Given the description of an element on the screen output the (x, y) to click on. 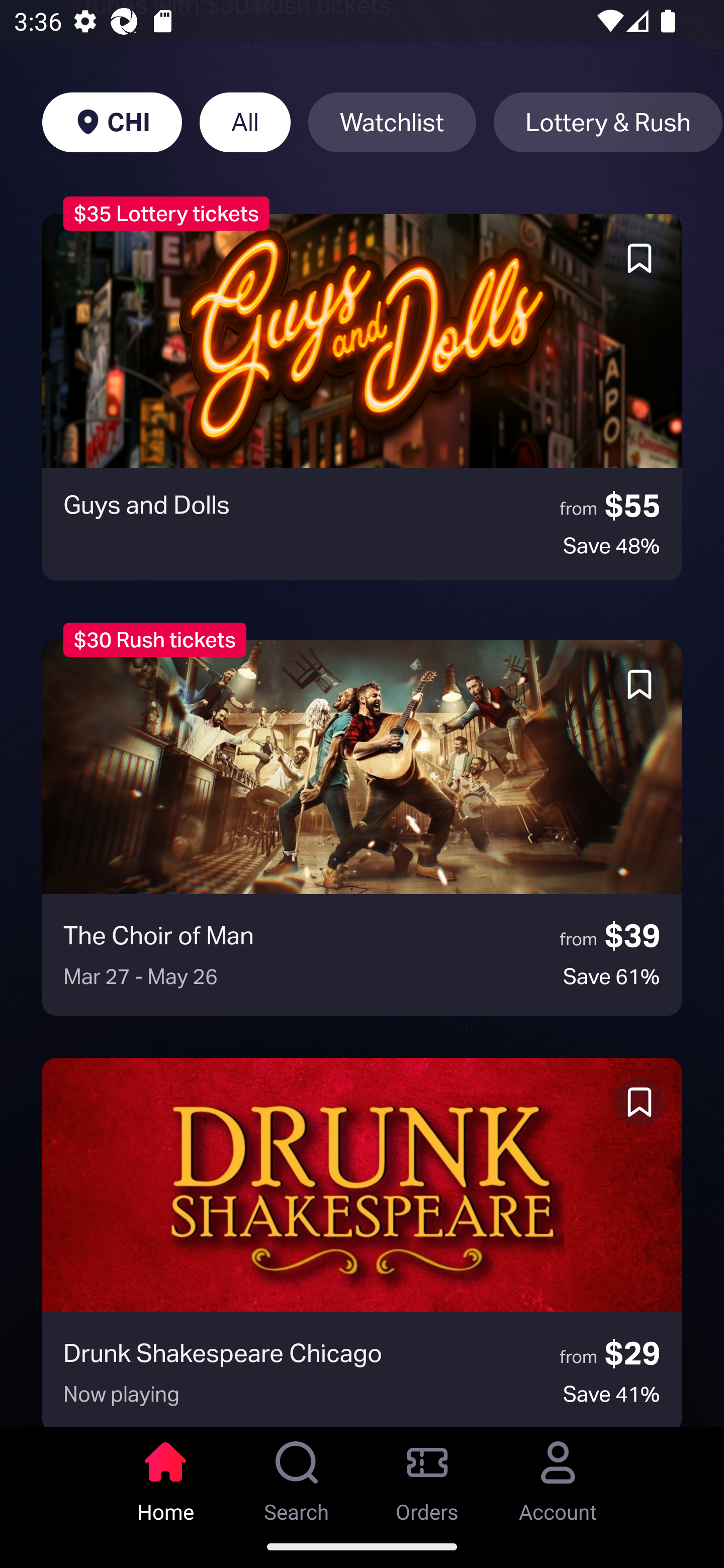
CHI (111, 122)
All (244, 122)
Watchlist (392, 122)
Lottery & Rush (607, 122)
Guys and Dolls from $55 Save 48% (361, 397)
The Choir of Man from $39 Mar 27 - May 26 Save 61% (361, 827)
Search (296, 1475)
Orders (427, 1475)
Account (558, 1475)
